Given the description of an element on the screen output the (x, y) to click on. 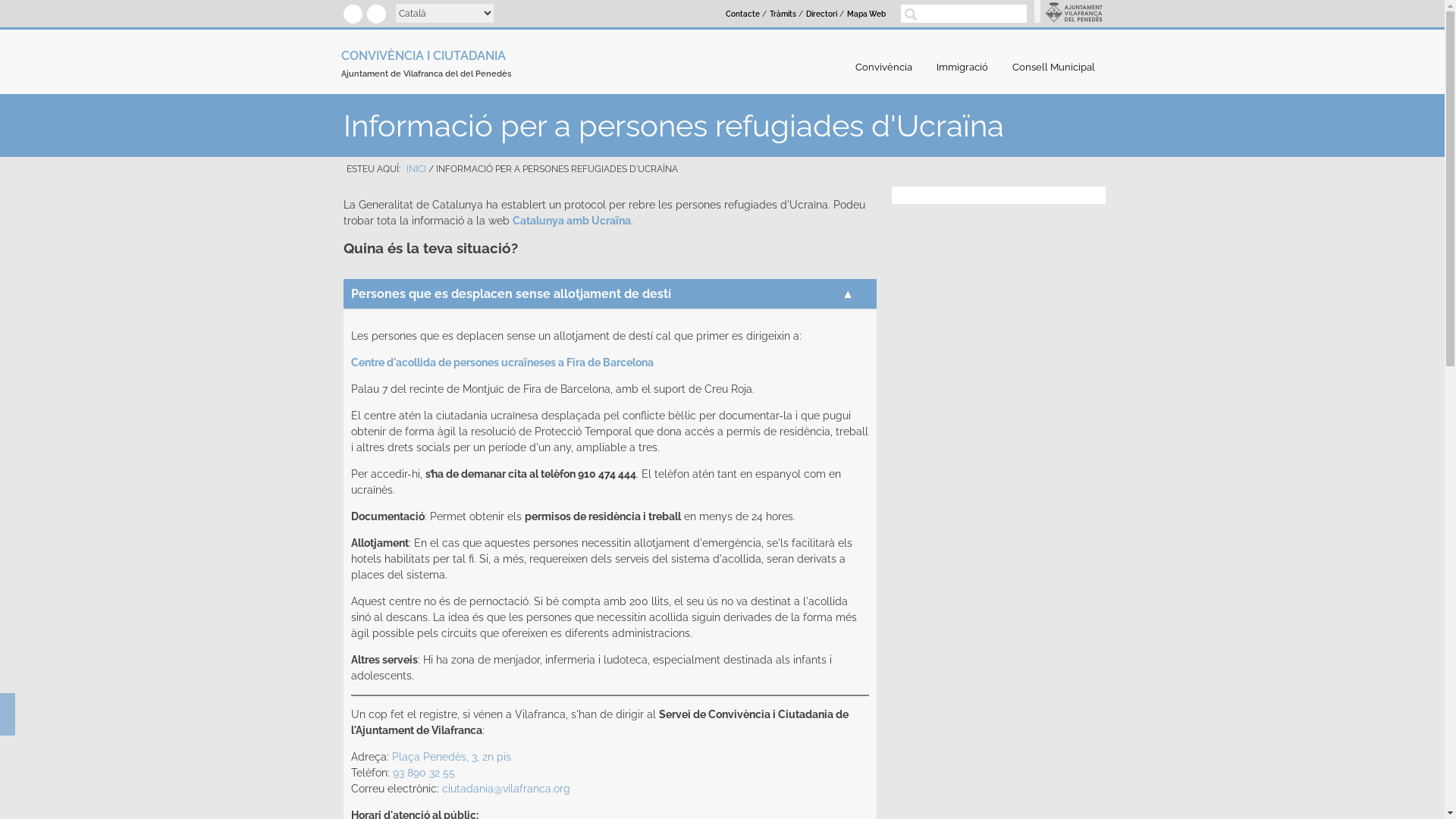
Mapa Web Element type: text (866, 14)
INICI Element type: text (416, 168)
ciutadania@vilafranca.org Element type: text (505, 788)
Consell Municipal Element type: text (1053, 66)
93 890 32 55 Element type: text (423, 772)
Directori Element type: text (821, 14)
Accessibilitat Element type: hover (7, 718)
Contacte Element type: text (742, 14)
